Given the description of an element on the screen output the (x, y) to click on. 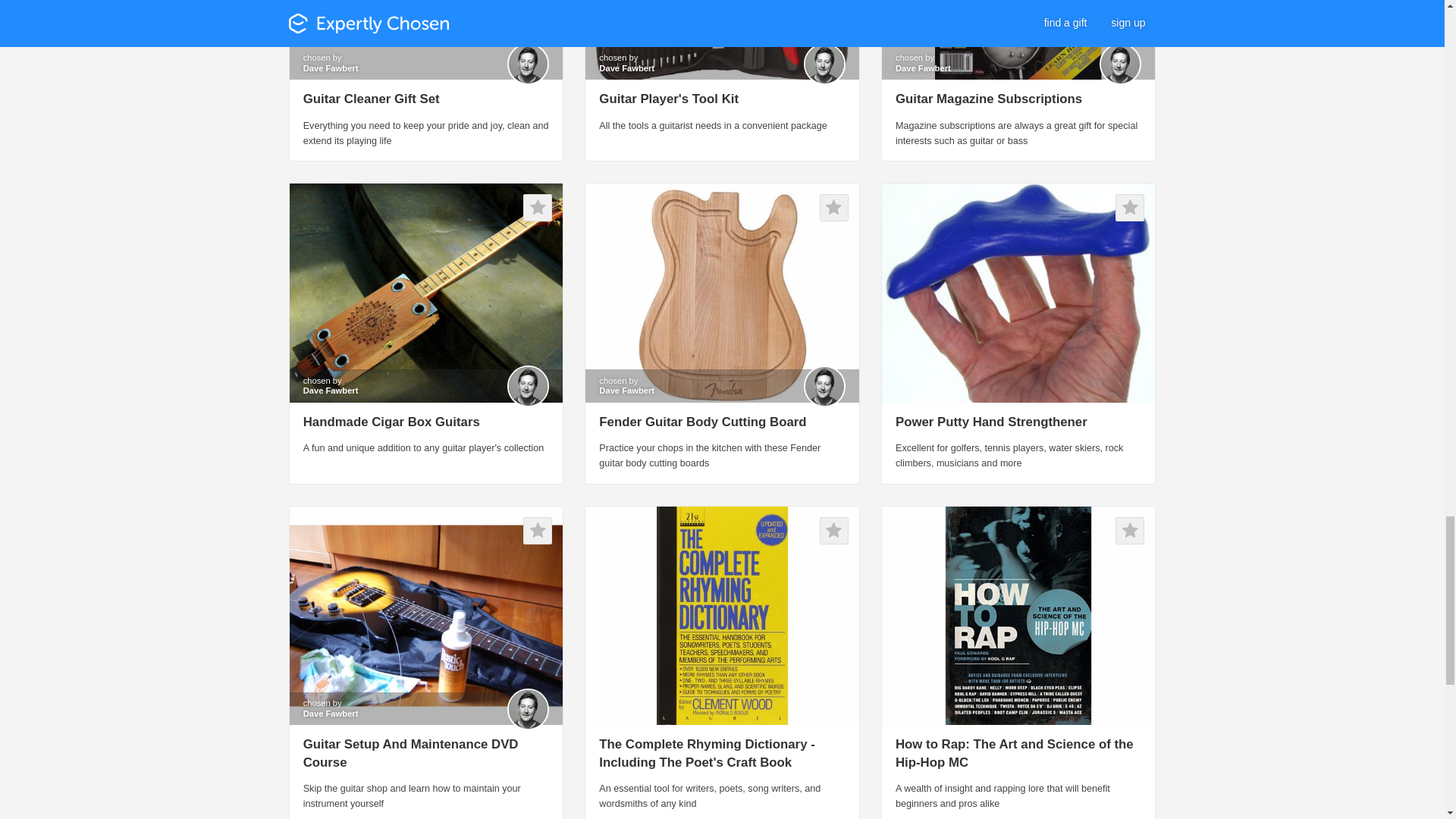
Add to my favorites (536, 530)
Add to my favorites (536, 207)
Add to my favorites (1129, 207)
Dave Fawbert (625, 68)
Dave Fawbert (330, 68)
Guitar Cleaner Gift Set (370, 98)
Add to my favorites (833, 207)
